Given the description of an element on the screen output the (x, y) to click on. 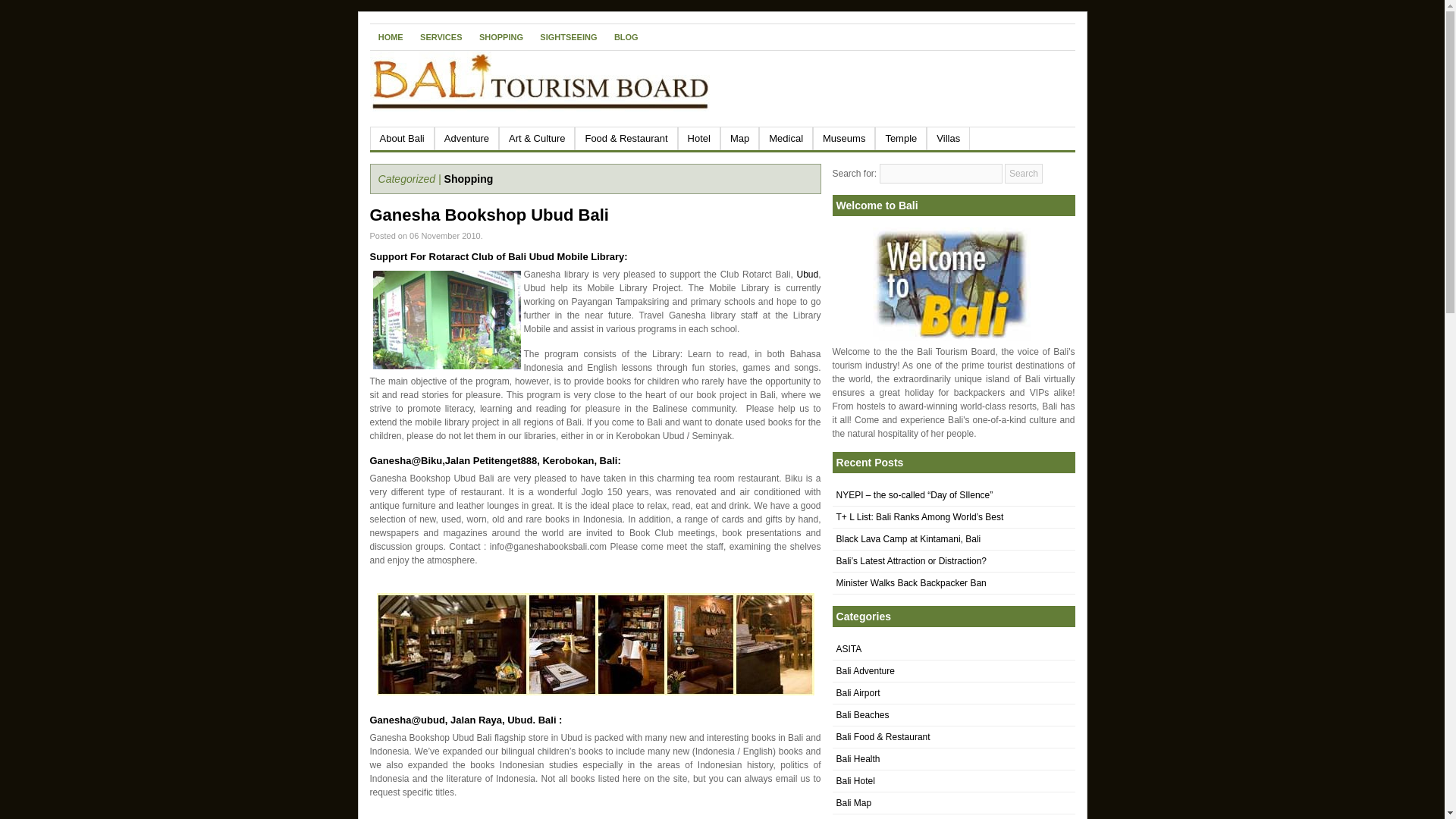
SERVICES (441, 36)
Bali Map (852, 802)
Search (1023, 173)
Temple (900, 138)
About Bali (401, 138)
Ganesha Bookshop Ubud Bali (488, 214)
Search (1023, 173)
Shopping (468, 178)
Ubud (807, 274)
Medical (785, 138)
